Given the description of an element on the screen output the (x, y) to click on. 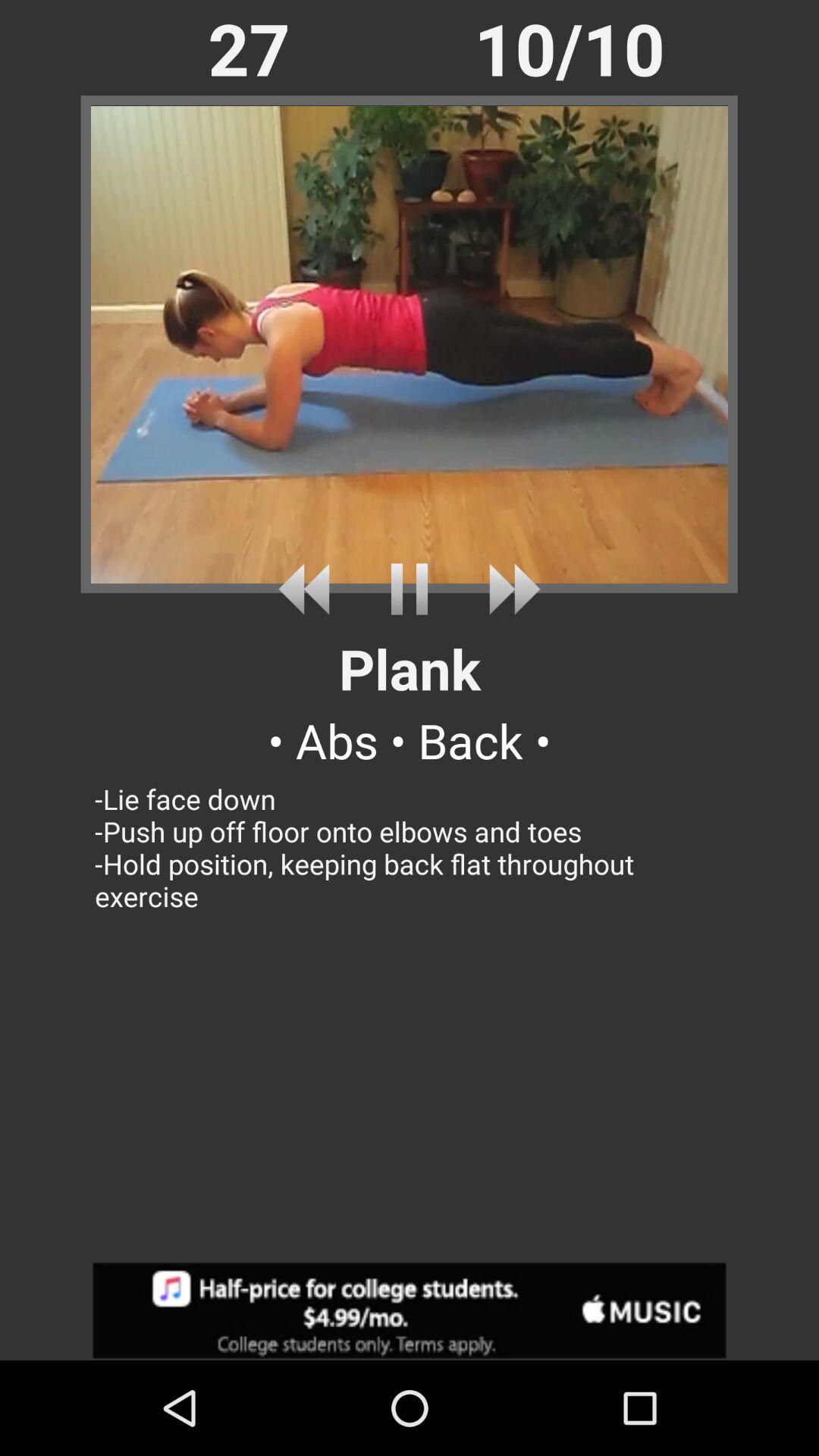
adsence (409, 1310)
